Given the description of an element on the screen output the (x, y) to click on. 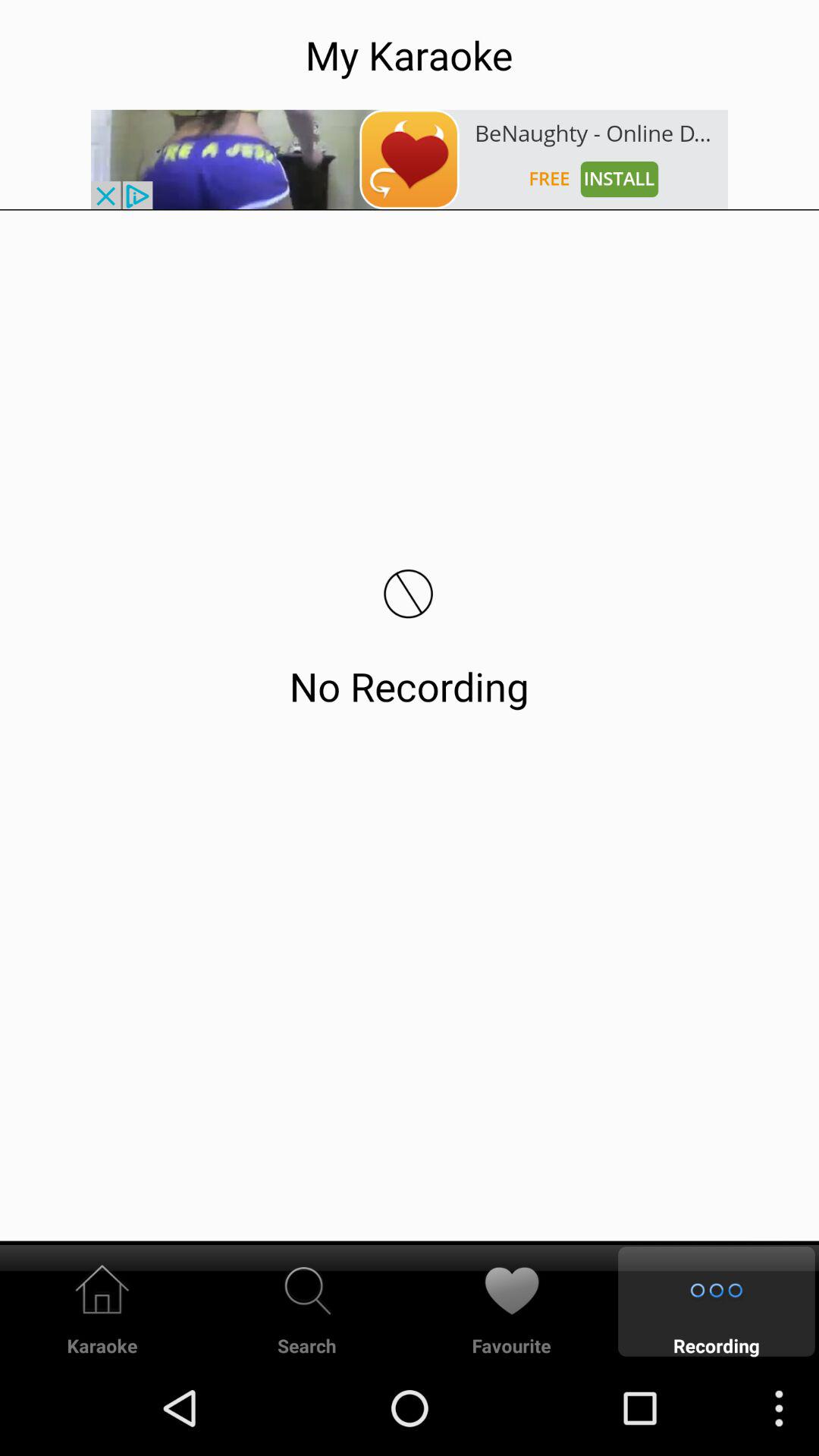
advertisement (409, 159)
